Given the description of an element on the screen output the (x, y) to click on. 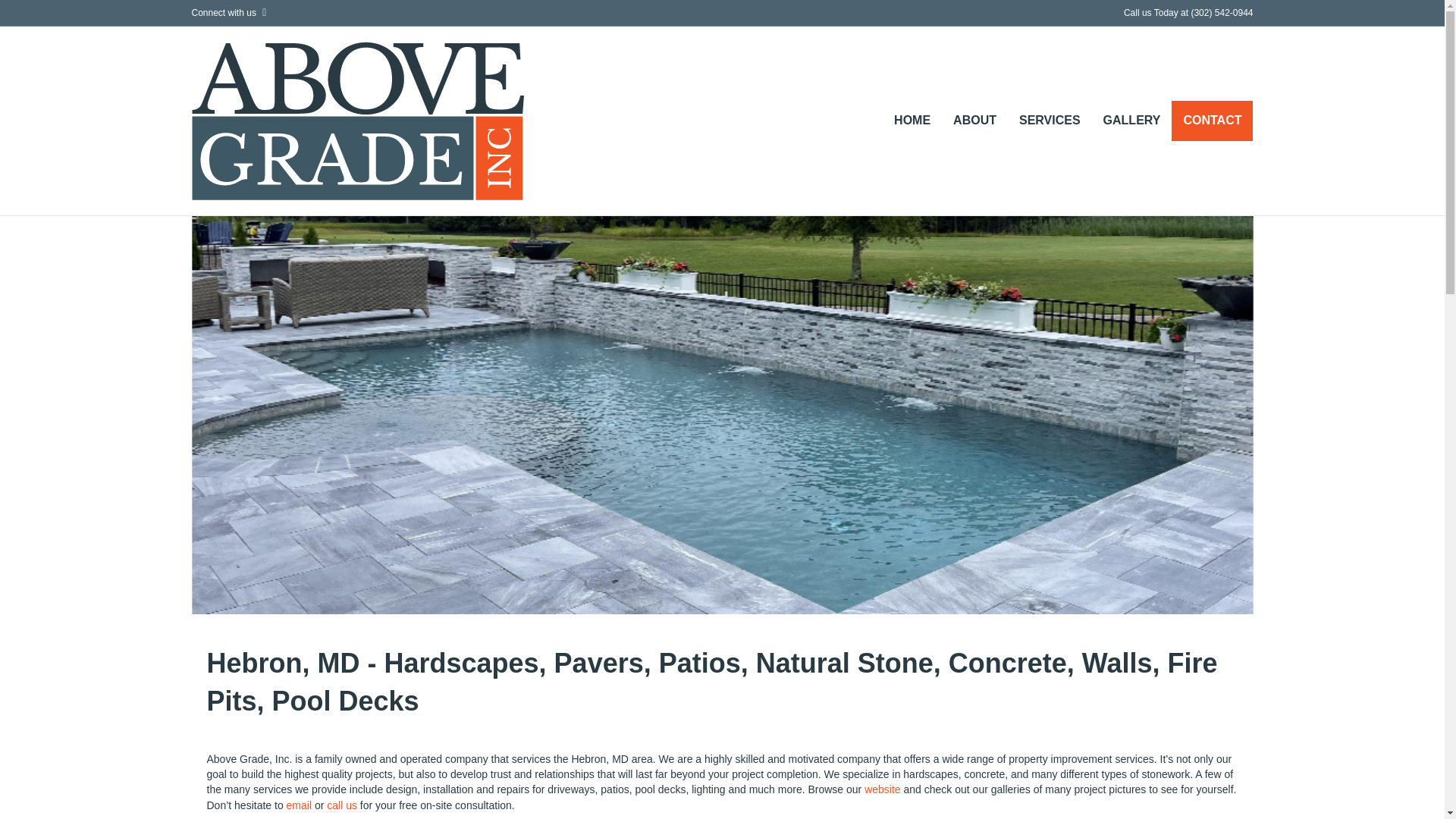
GALLERY (1132, 120)
ABOUT (974, 120)
CONTACT (1212, 120)
HOME (912, 120)
SERVICES (1049, 120)
website (881, 788)
